Given the description of an element on the screen output the (x, y) to click on. 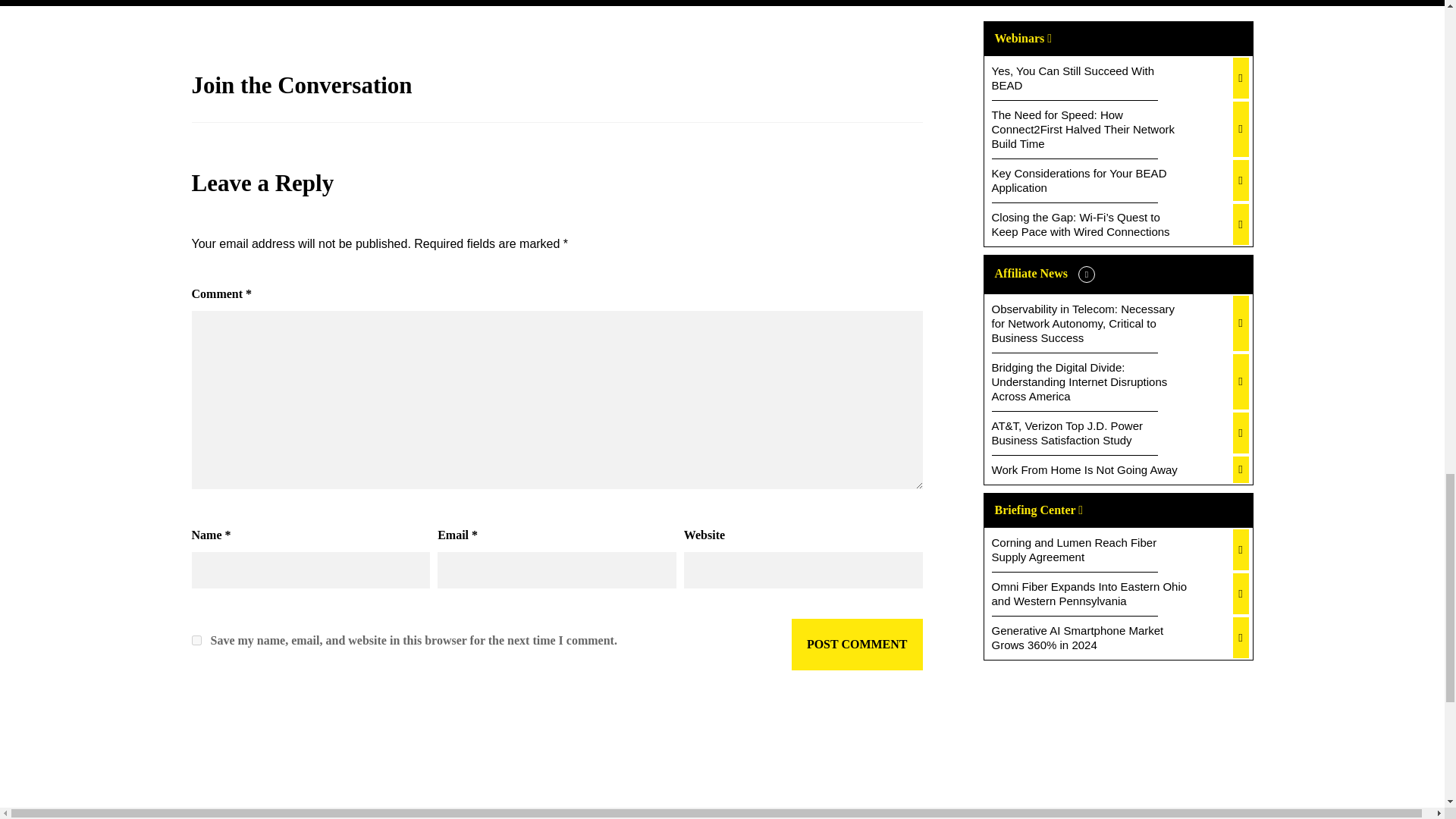
Post Comment (857, 644)
yes (195, 640)
